Given the description of an element on the screen output the (x, y) to click on. 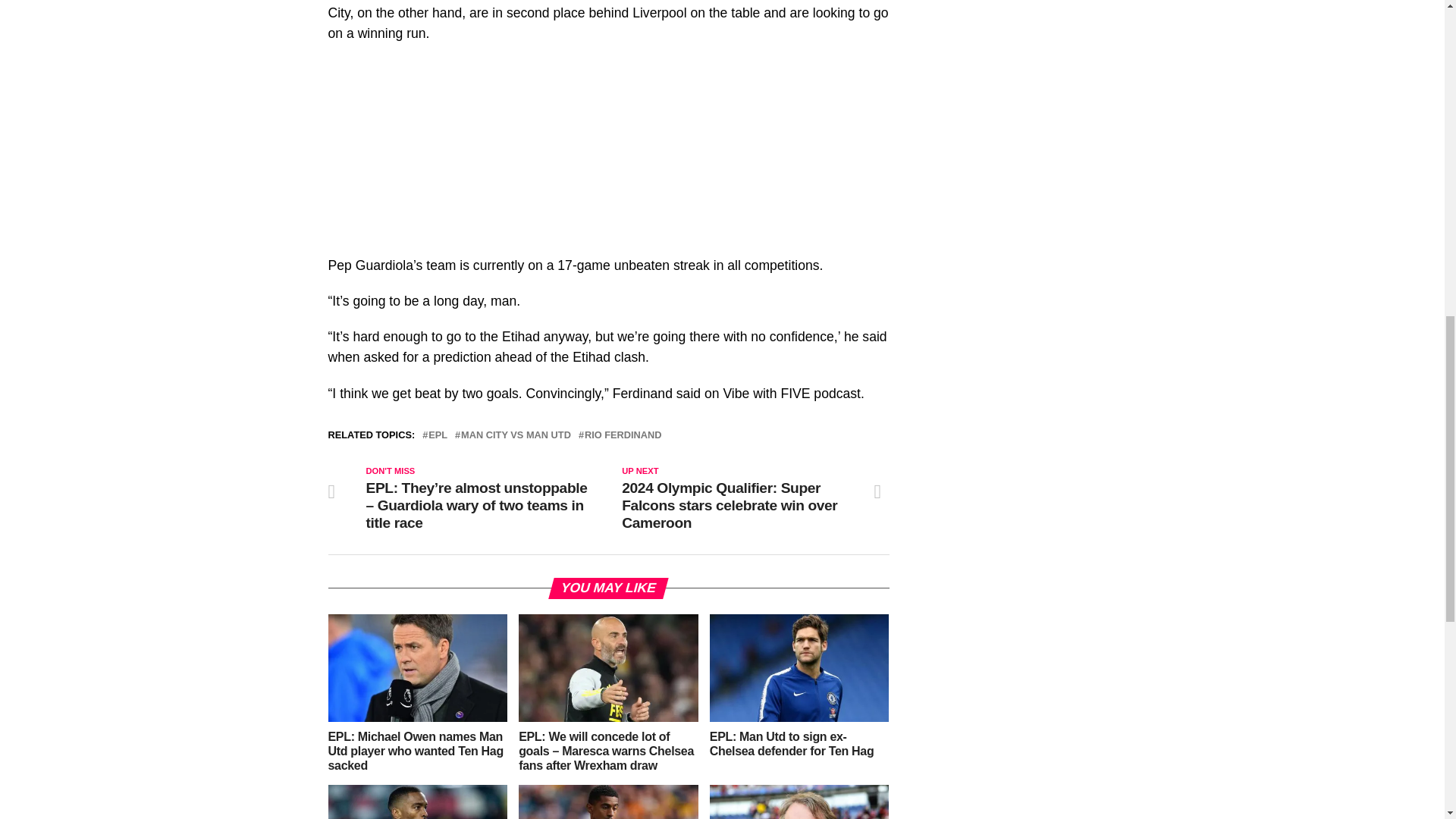
RIO FERDINAND (623, 435)
MAN CITY VS MAN UTD (515, 435)
EPL (437, 435)
